Given the description of an element on the screen output the (x, y) to click on. 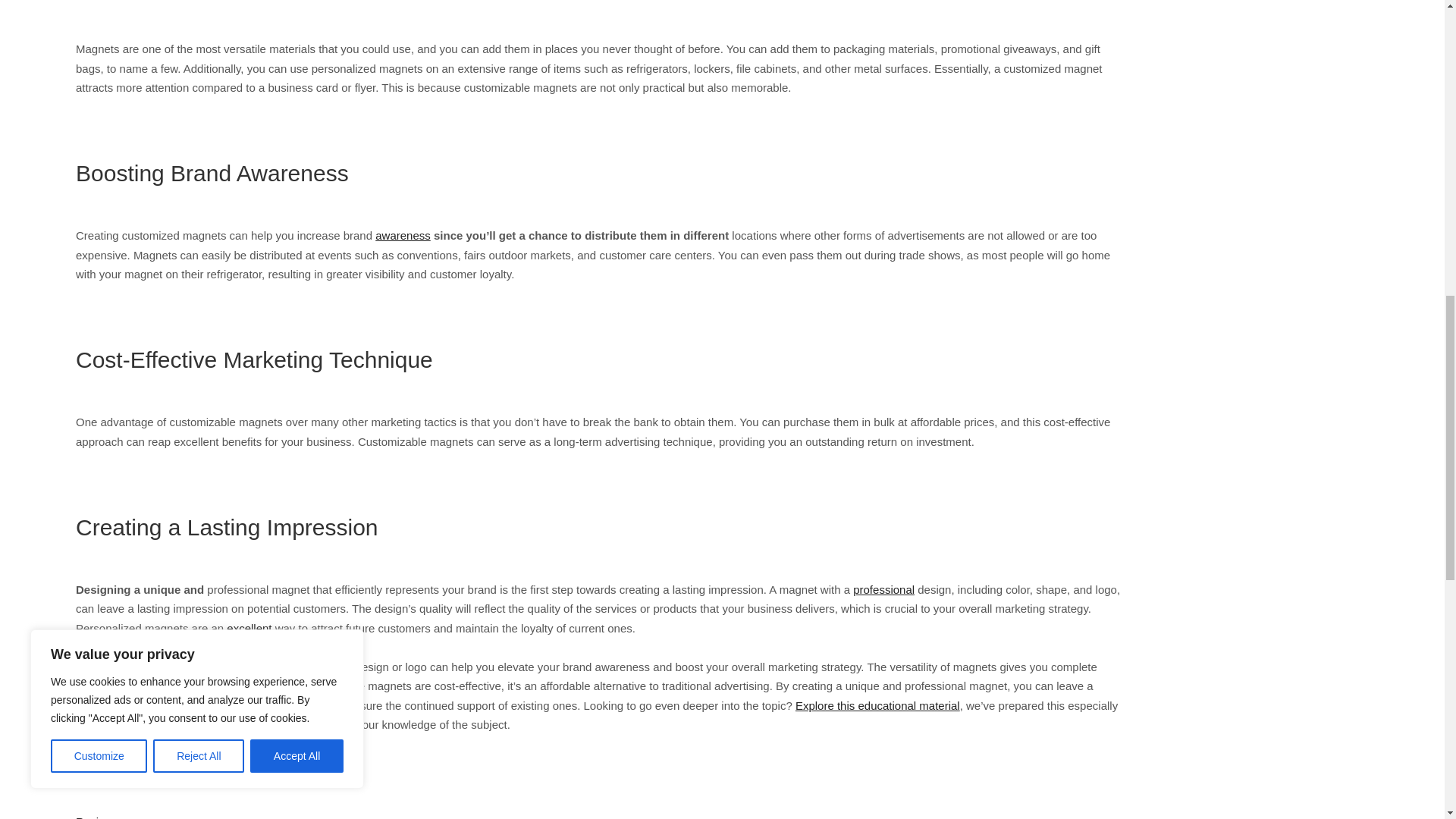
Review now (105, 816)
professional (883, 589)
excellent (248, 627)
awareness (402, 235)
Explore this educational material (876, 705)
